Given the description of an element on the screen output the (x, y) to click on. 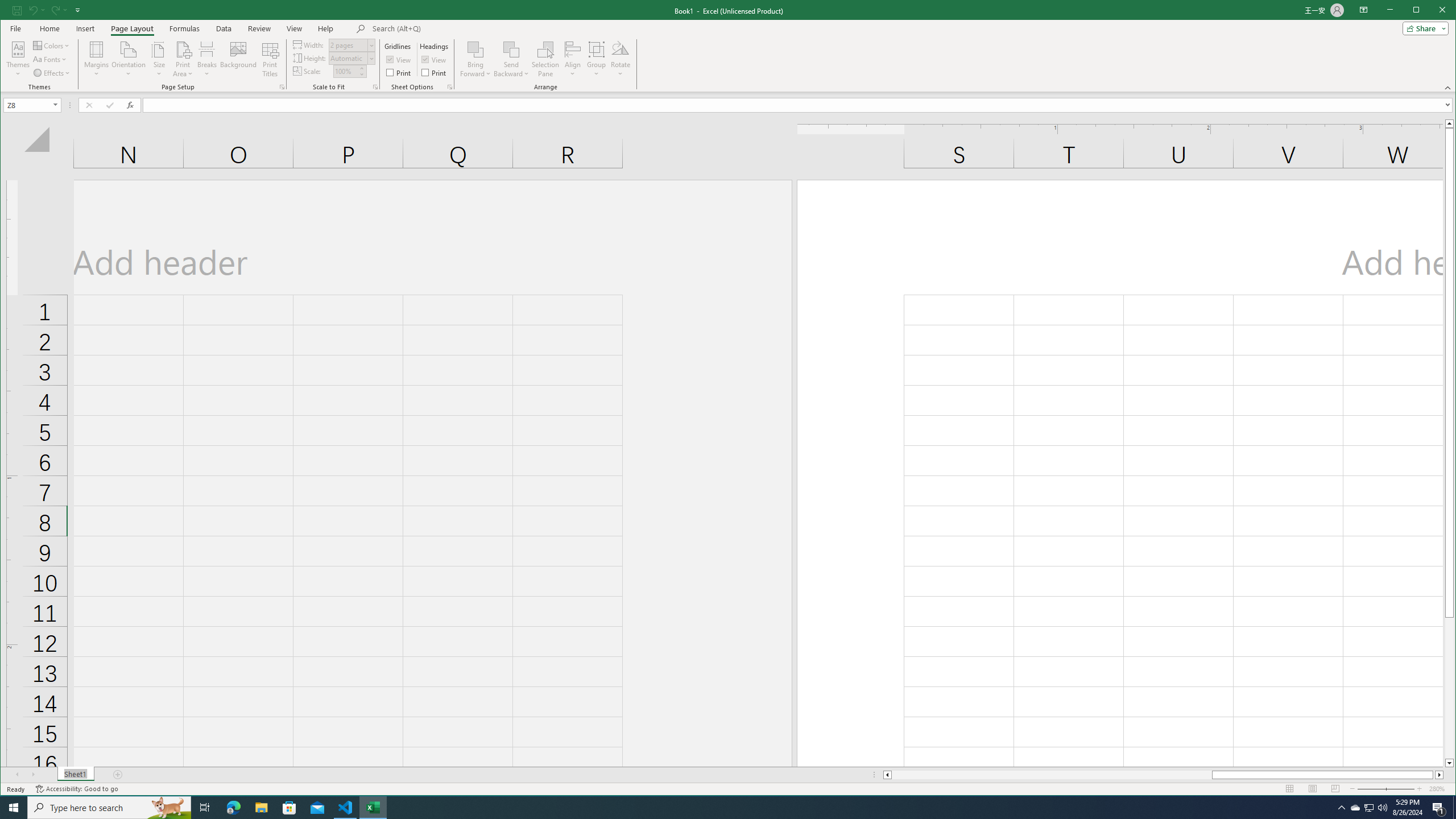
Group (596, 59)
Class: MsoCommandBar (728, 45)
Notification Chevron (1341, 807)
Sheet Options (449, 86)
Breaks (206, 59)
Search highlights icon opens search home window (167, 807)
Visual Studio Code - 1 running window (345, 807)
